Given the description of an element on the screen output the (x, y) to click on. 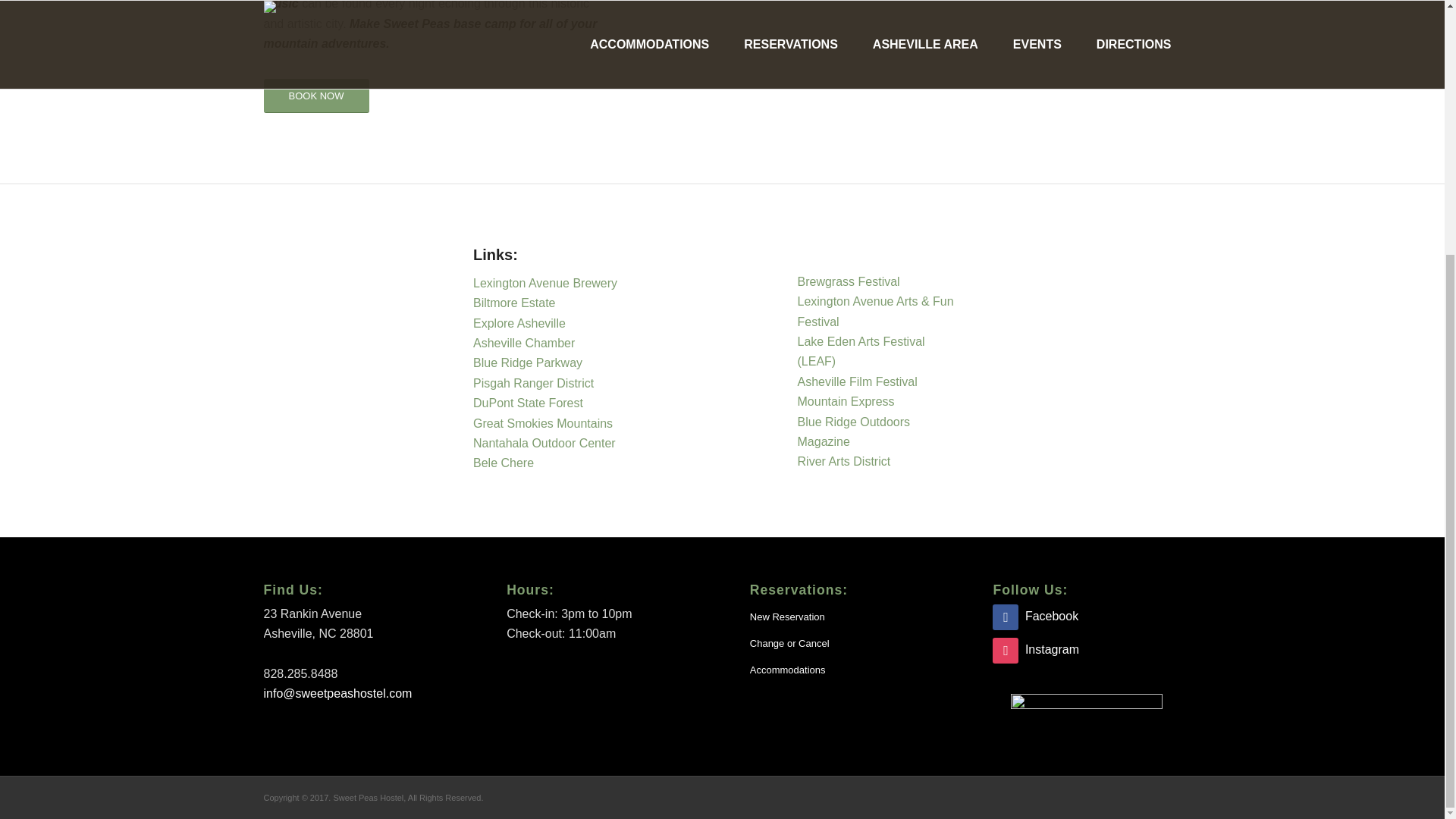
Change or Cancel (843, 643)
DuPont State Forest (528, 402)
New Reservation (843, 617)
Pisgah Ranger District (533, 382)
Accommodations (843, 670)
Instagram (1035, 649)
Asheville Chamber  (525, 342)
Blue Ridge Parkway  (529, 362)
River Arts District (844, 461)
Blue Ridge Outdoors Magazine (854, 431)
